Given the description of an element on the screen output the (x, y) to click on. 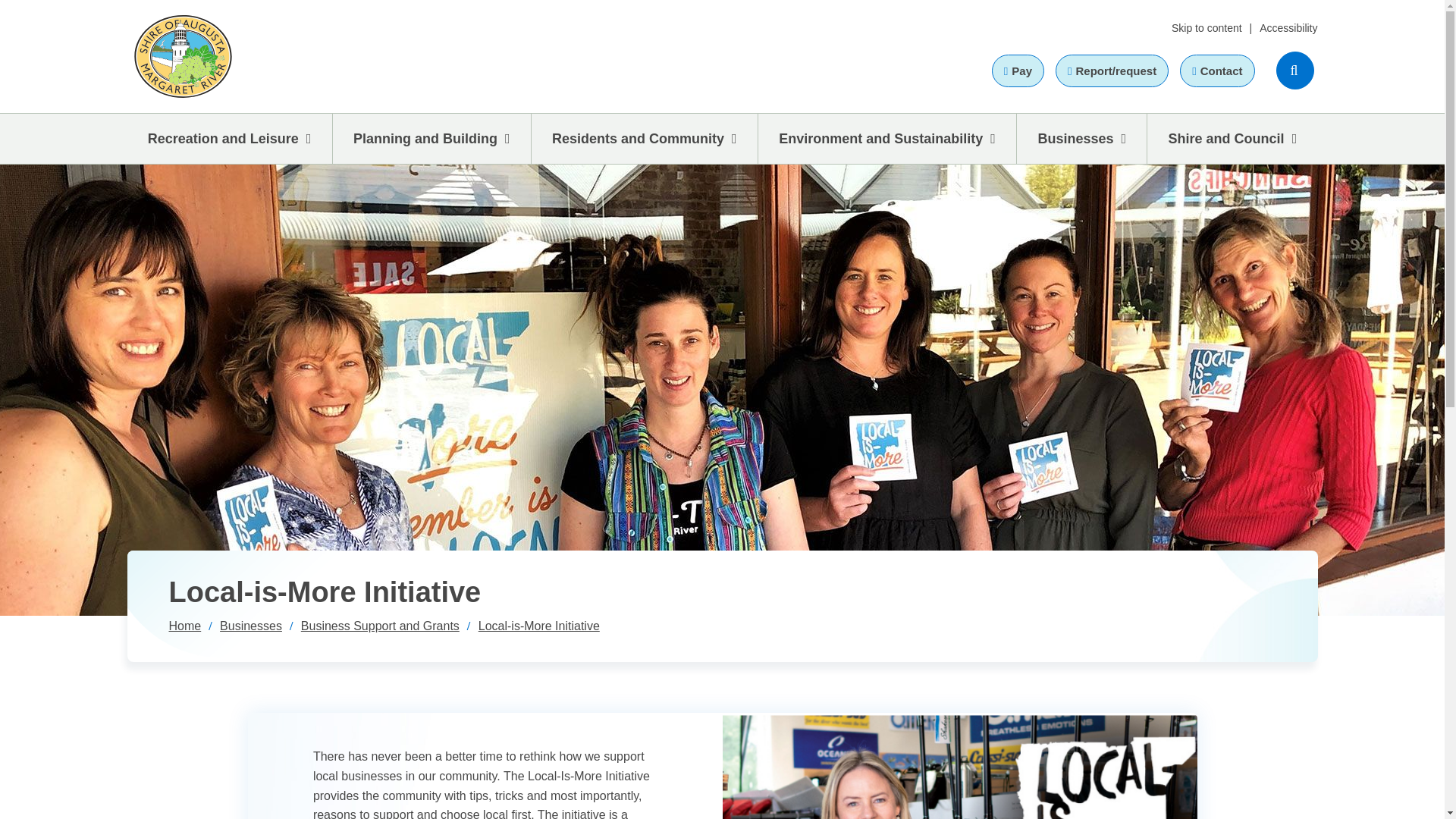
Recreation and Leisure (230, 138)
Accessibility (1288, 28)
SEARCH (1294, 70)
Planning and Building (432, 138)
Pay (1017, 70)
Contact (1216, 70)
Skip to content (1206, 28)
